Given the description of an element on the screen output the (x, y) to click on. 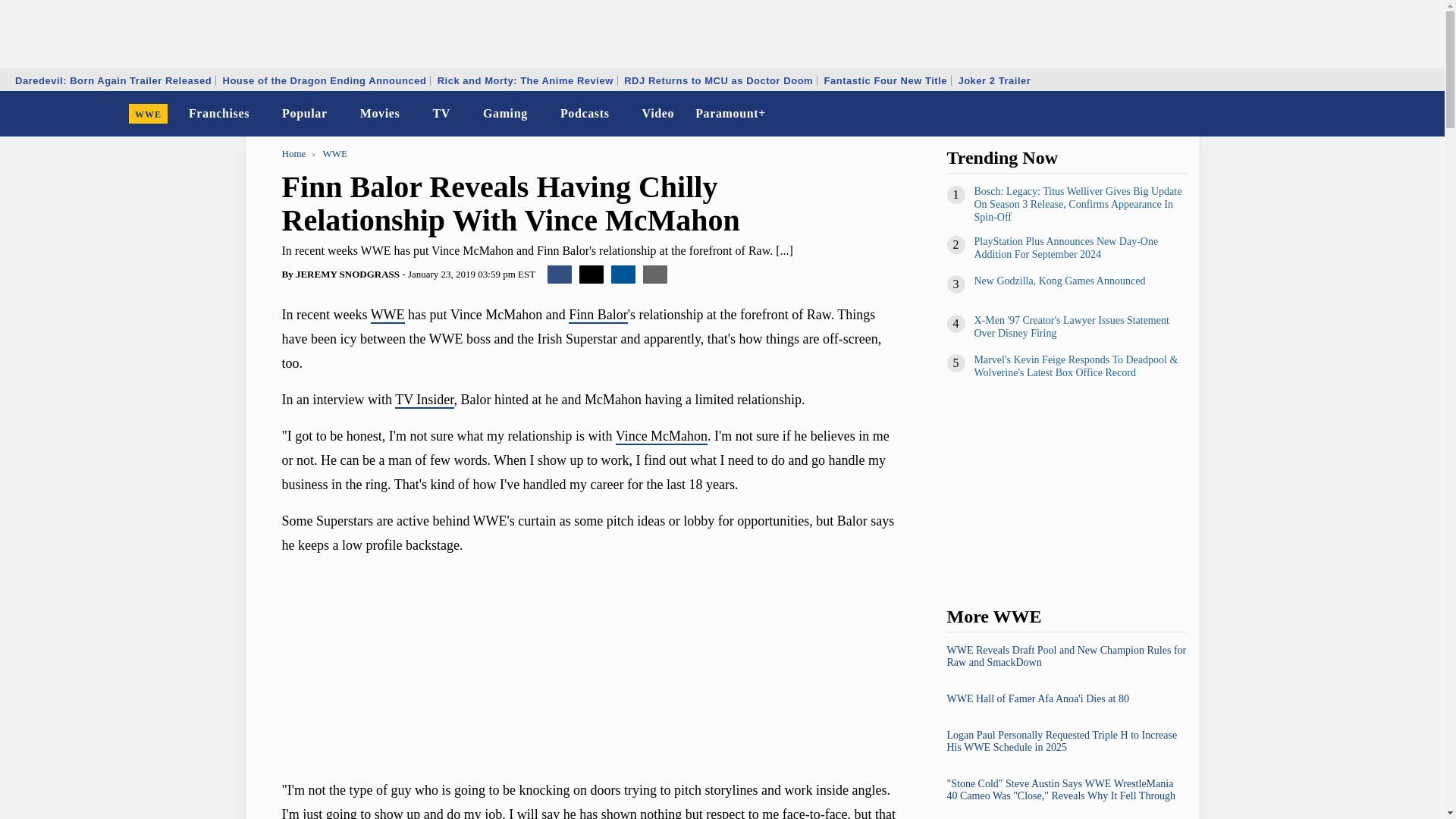
RDJ Returns to MCU as Doctor Doom (718, 80)
House of the Dragon Ending Announced (323, 80)
Popular (304, 113)
Daredevil: Born Again Trailer Released (113, 80)
Movies (379, 113)
Joker 2 Trailer (993, 80)
Dark Mode (1394, 113)
Fantastic Four New Title (886, 80)
Search (1422, 114)
WWE (148, 113)
